Given the description of an element on the screen output the (x, y) to click on. 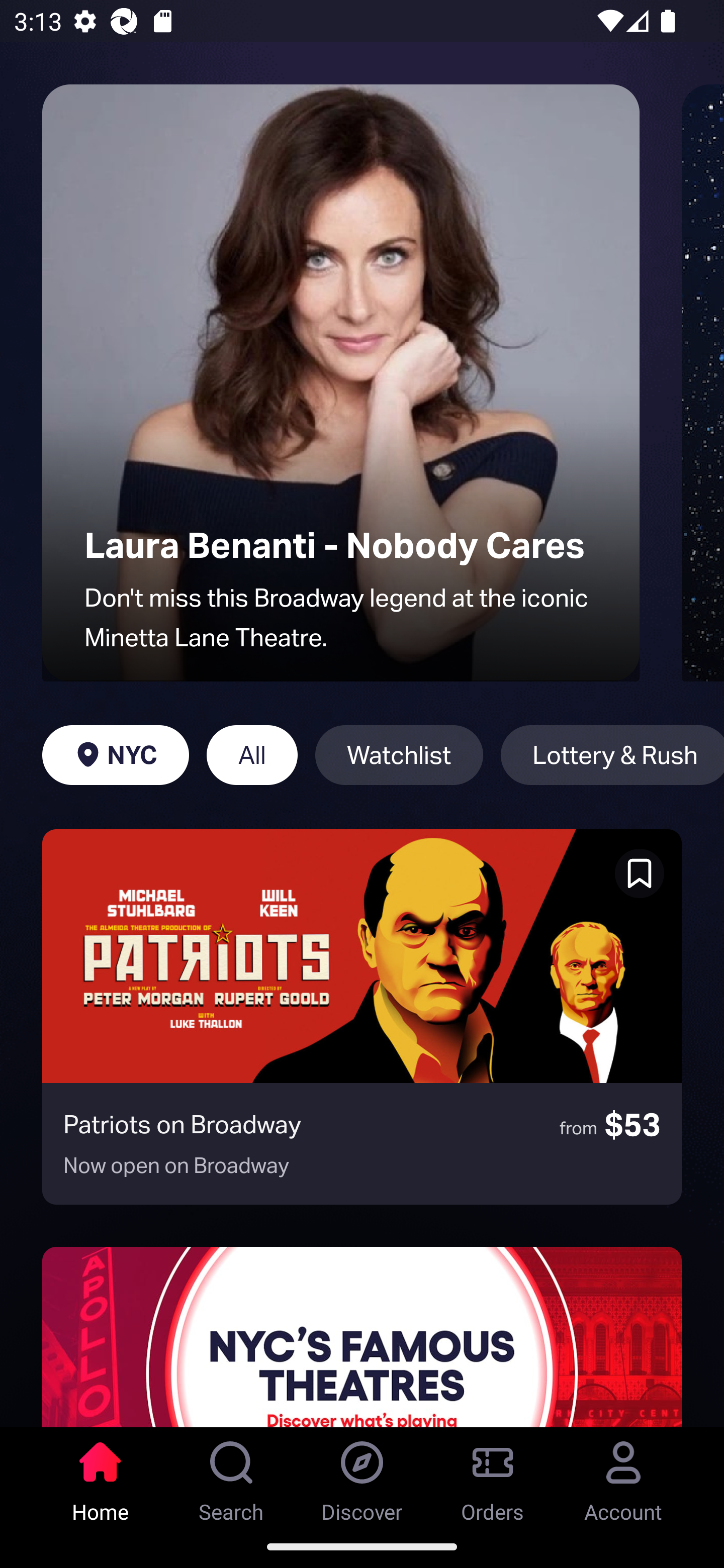
NYC (114, 754)
All (251, 754)
Watchlist (398, 754)
Lottery & Rush (612, 754)
Patriots on Broadway from $53 Now open on Broadway (361, 1016)
Search (230, 1475)
Discover (361, 1475)
Orders (492, 1475)
Account (623, 1475)
